Given the description of an element on the screen output the (x, y) to click on. 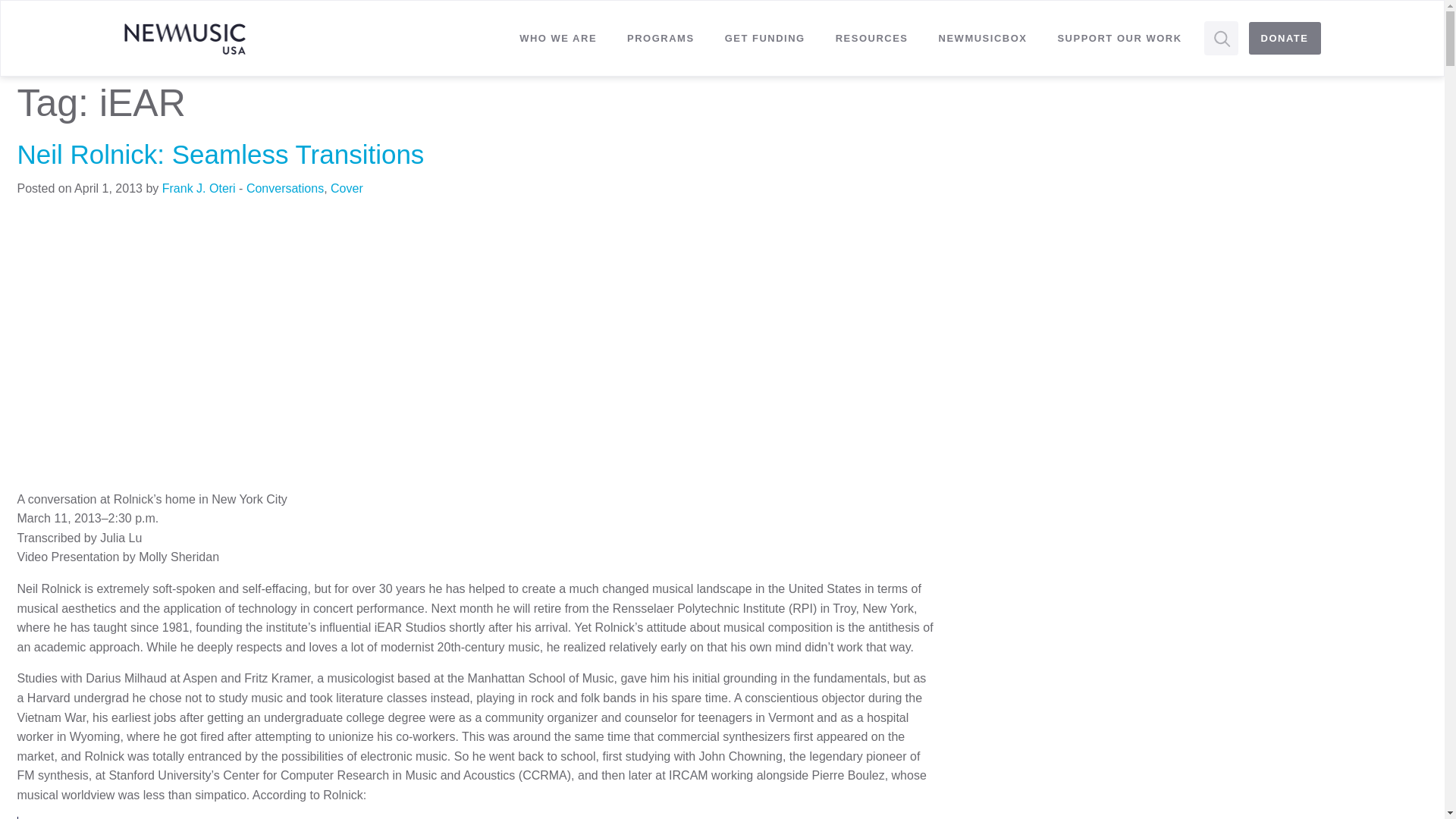
vimeo-player (259, 347)
Posts by Frank J. Oteri (198, 187)
Neil Rolnick: Seamless Transitions (219, 153)
